Given the description of an element on the screen output the (x, y) to click on. 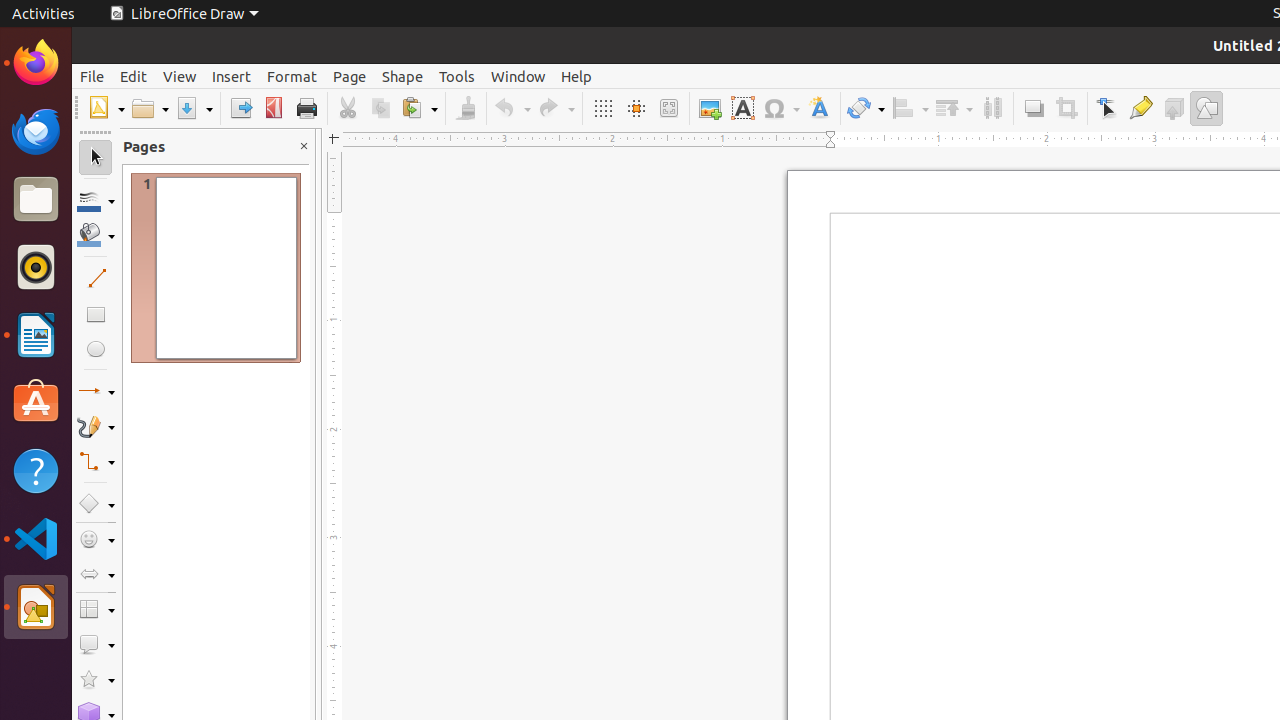
Transformations Element type: push-button (866, 108)
Text Box Element type: push-button (742, 108)
Format Element type: menu (292, 76)
New Element type: push-button (106, 108)
Select Element type: push-button (95, 157)
